Given the description of an element on the screen output the (x, y) to click on. 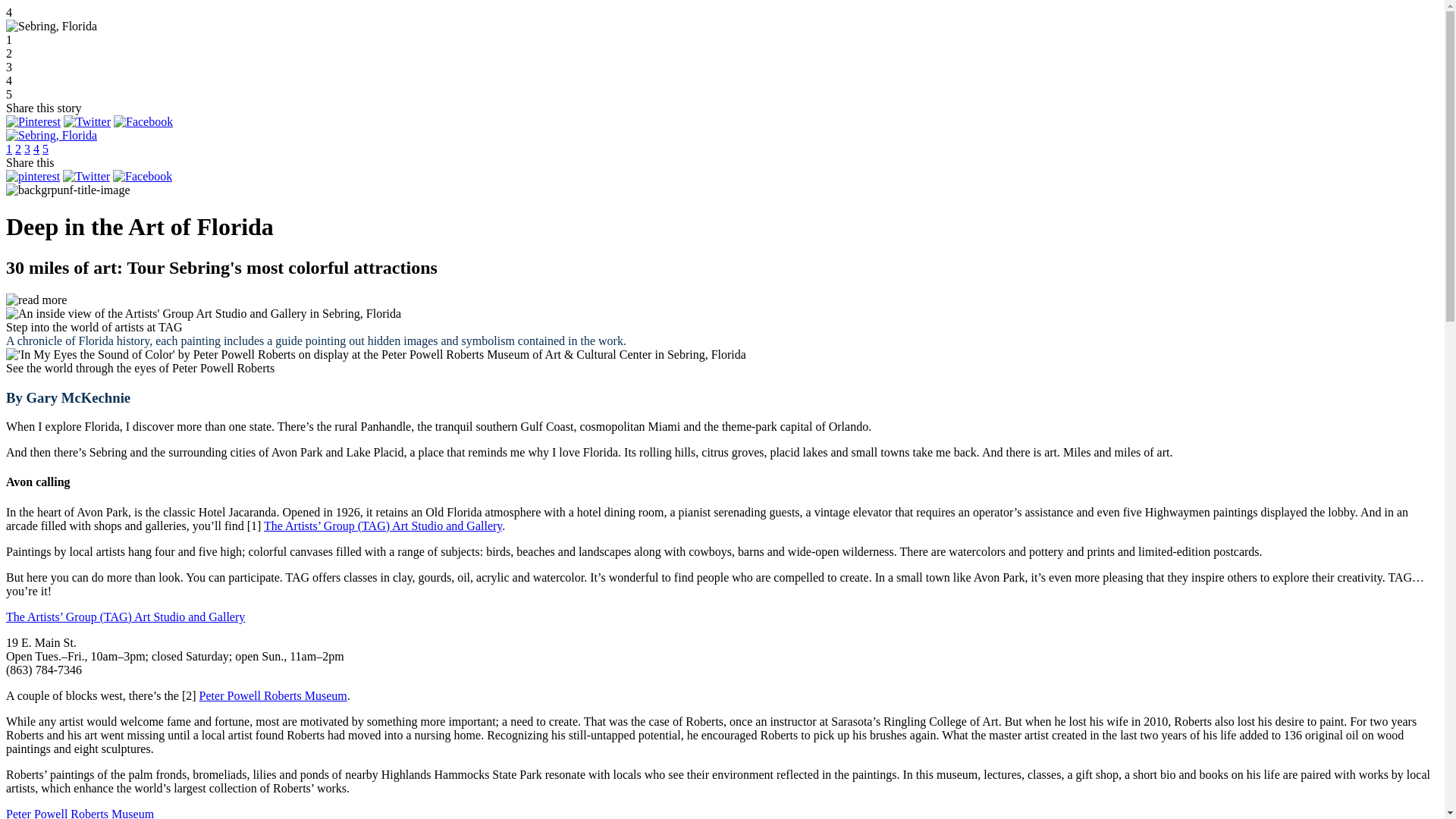
Peter Powell Roberts Museum (79, 813)
4 (36, 148)
3 (27, 148)
2 (17, 148)
5 (45, 148)
Share this (30, 162)
Peter Powell Roberts Museum (273, 695)
1 (8, 148)
